Given the description of an element on the screen output the (x, y) to click on. 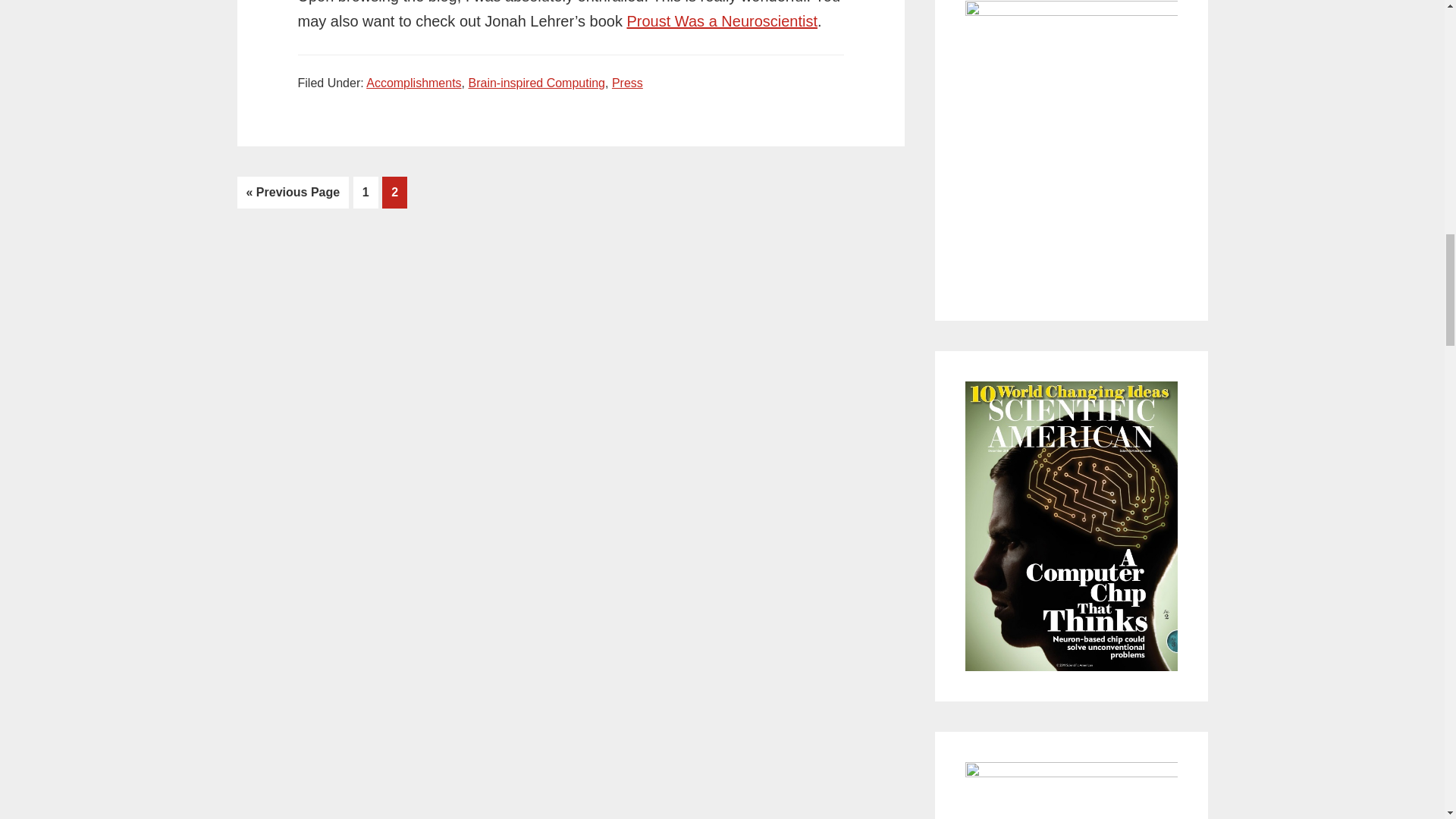
Proust Was a Neuroscientist (721, 21)
